Given the description of an element on the screen output the (x, y) to click on. 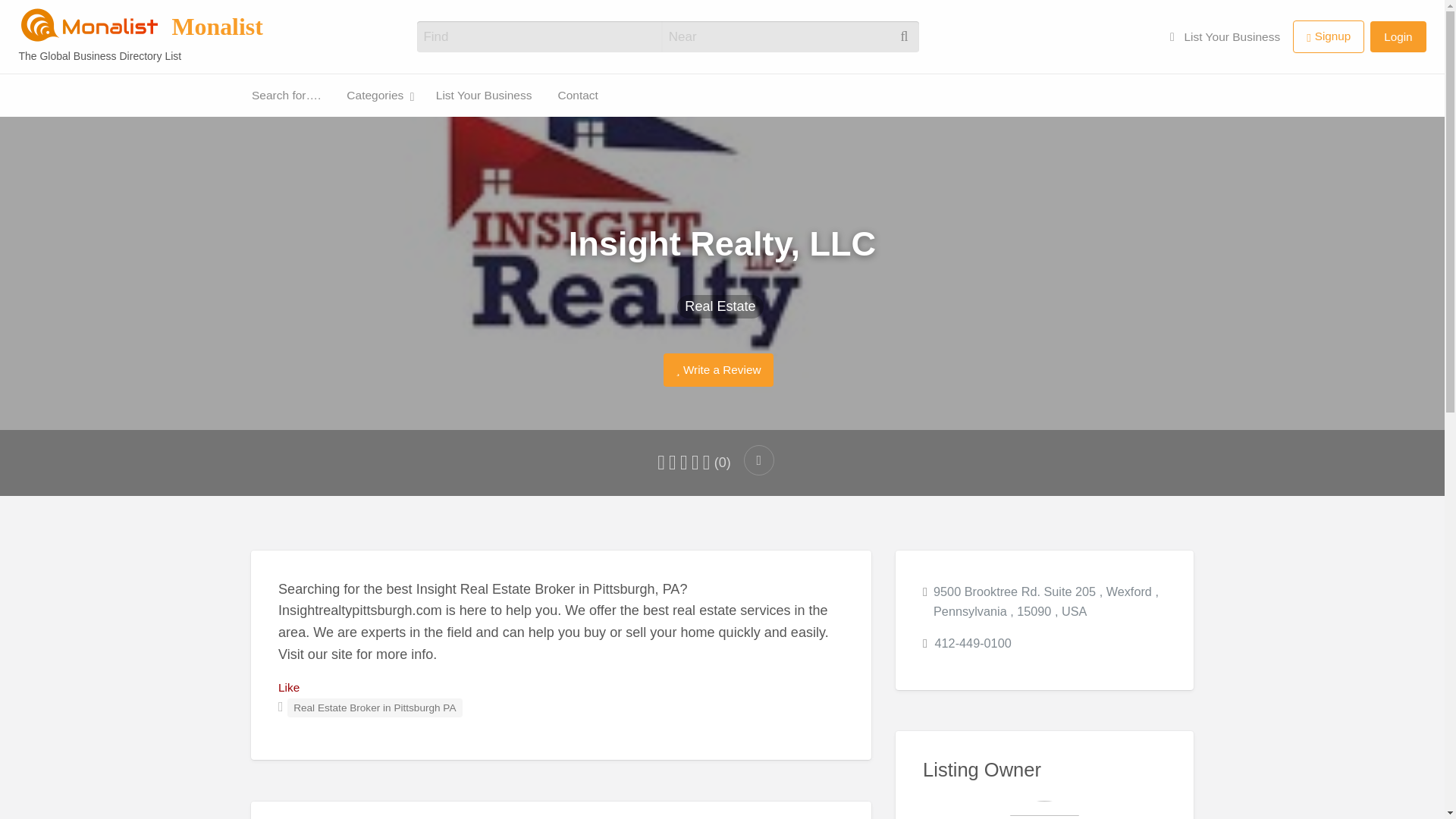
Search (30, 16)
No rating (683, 462)
List Your Business (29, 116)
No rating (694, 462)
No rating (672, 462)
Contact (95, 116)
No rating (706, 462)
No rating (684, 462)
No rating (661, 462)
